Given the description of an element on the screen output the (x, y) to click on. 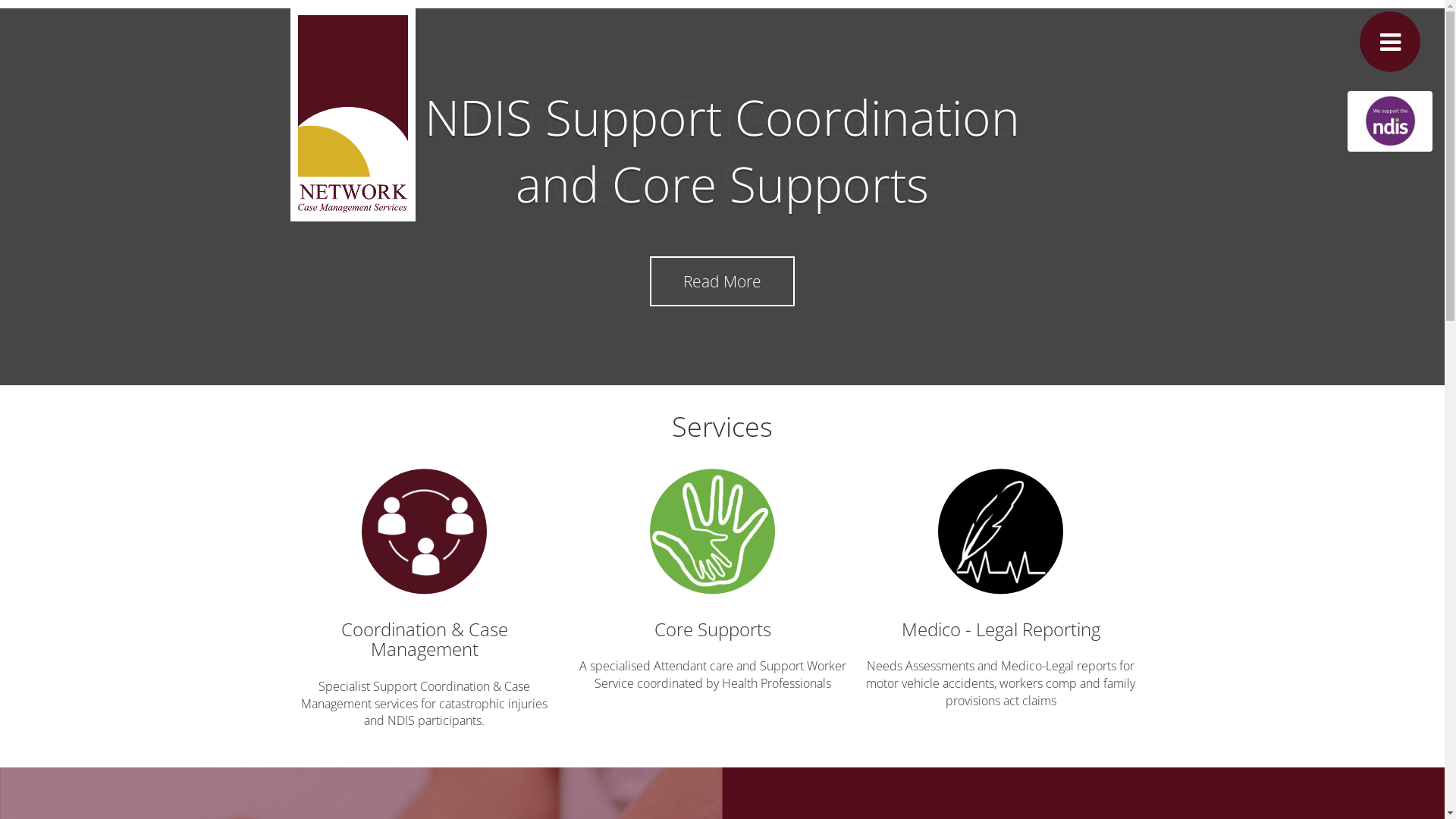
Core Supports Element type: text (712, 628)
Read More Element type: text (721, 281)
Toggle navigation Element type: text (1389, 41)
Skip to content Element type: text (456, 32)
Medico - Legal Reporting Element type: text (1000, 628)
Coordination & Case Management Element type: text (424, 638)
Network Case Management Services Element type: hover (352, 116)
